Given the description of an element on the screen output the (x, y) to click on. 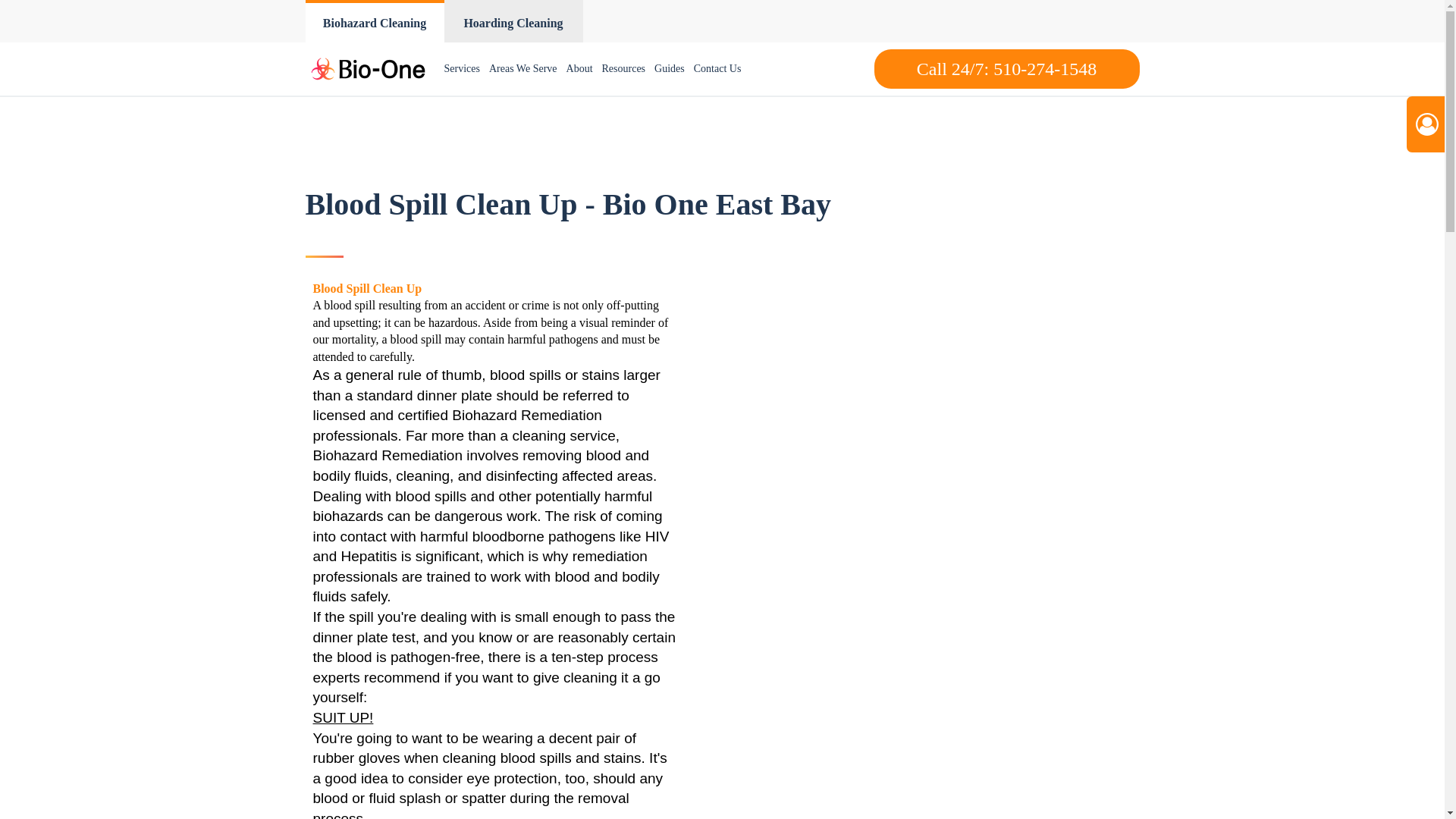
Resources (623, 68)
Areas We Serve (523, 68)
Biohazard Cleaning (374, 21)
Contact Us (716, 68)
Hoarding Cleaning (513, 21)
Services (461, 68)
Blood Spill Clean Up (367, 287)
